Given the description of an element on the screen output the (x, y) to click on. 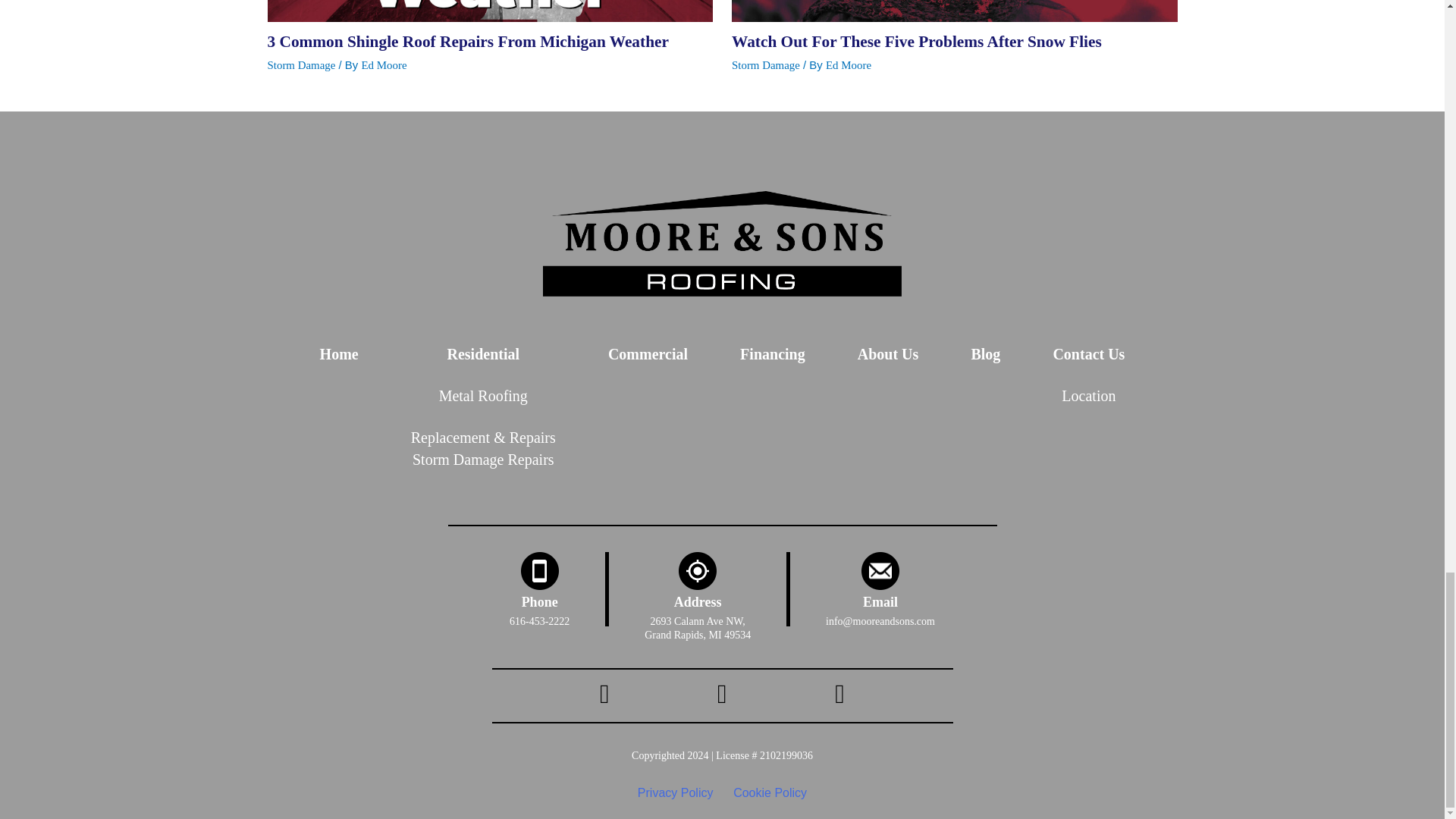
View all posts by Ed Moore (847, 64)
View all posts by Ed Moore (383, 64)
Privacy Policy  (675, 793)
Cookie Policy  (769, 793)
